Given the description of an element on the screen output the (x, y) to click on. 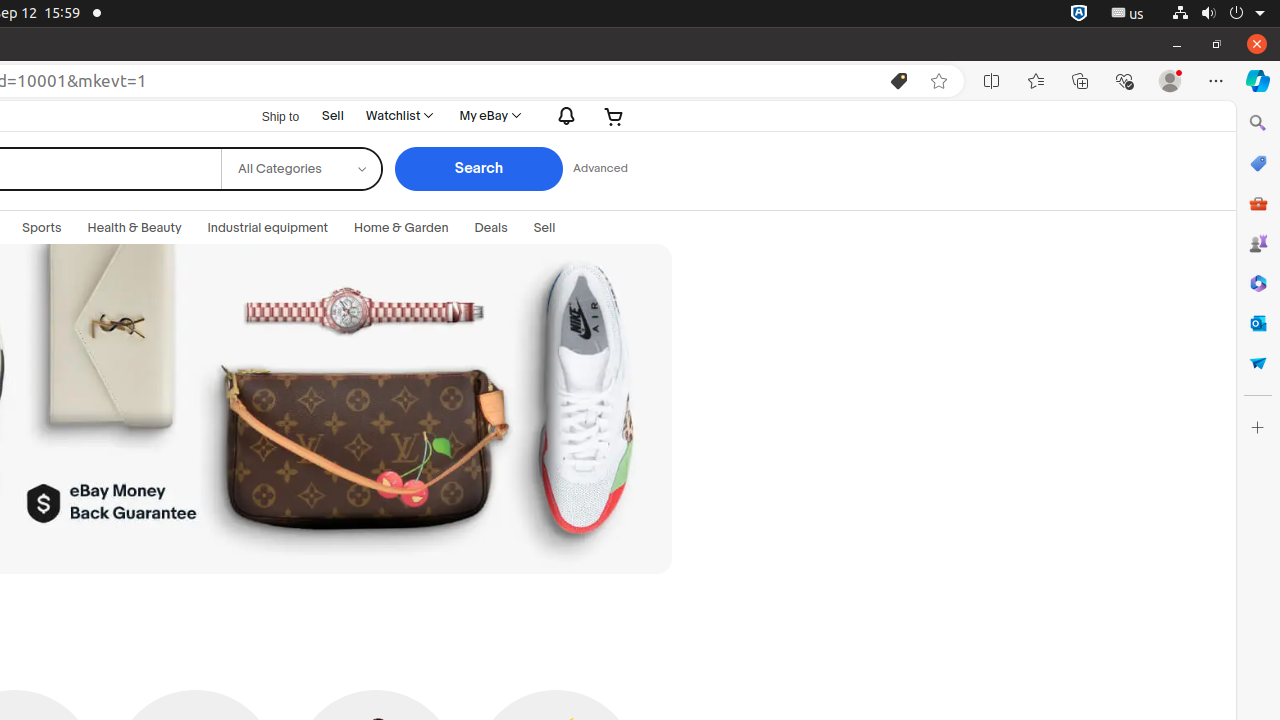
Browser essentials Element type: push-button (1124, 81)
All Categories Element type: menu-item (300, 154)
Your shopping cart Element type: link (614, 116)
Copilot (Ctrl+Shift+.) Element type: push-button (1258, 81)
:1.21/StatusNotifierItem Element type: menu (1127, 13)
